Given the description of an element on the screen output the (x, y) to click on. 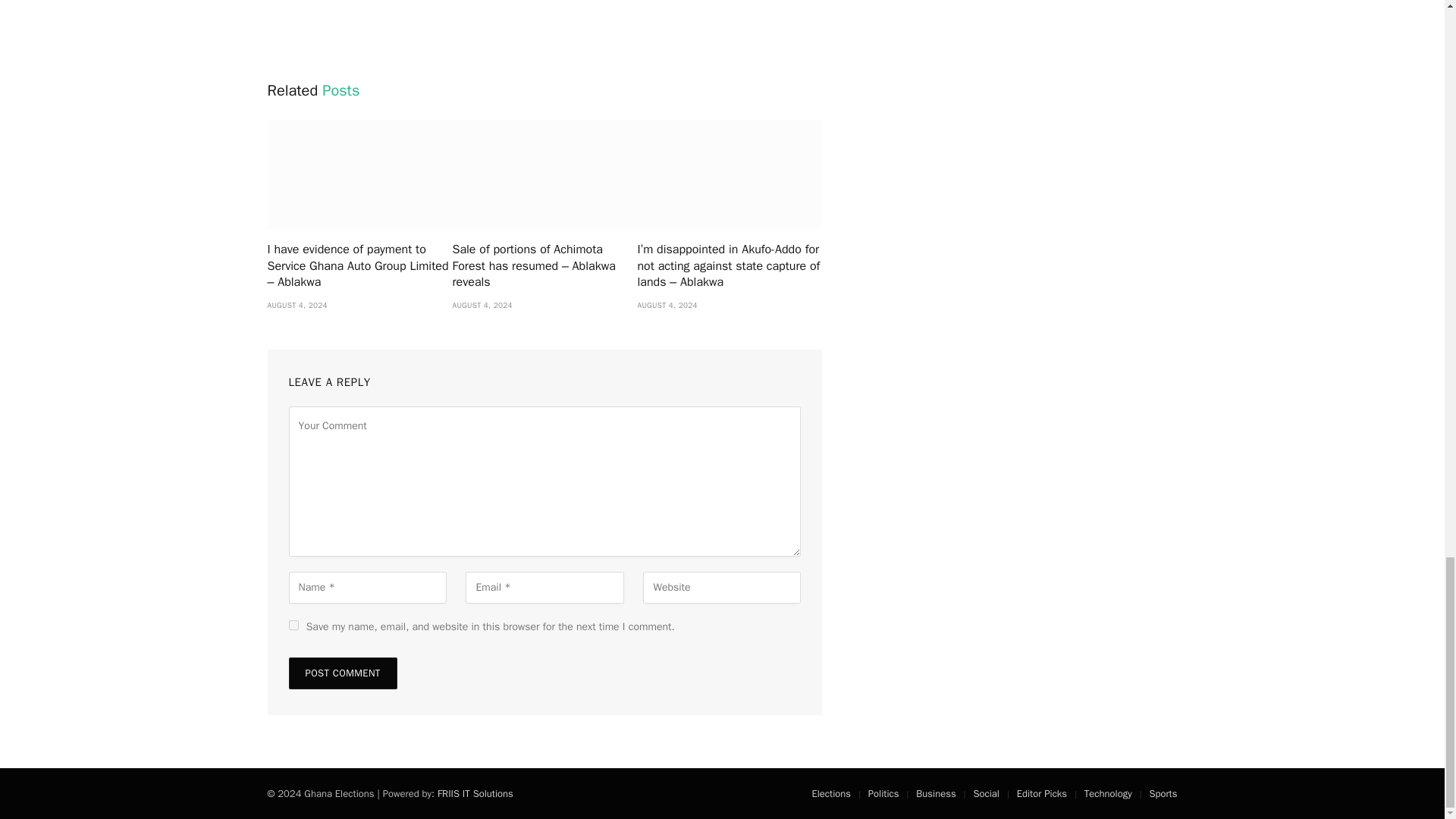
yes (293, 624)
Post Comment (342, 673)
